Given the description of an element on the screen output the (x, y) to click on. 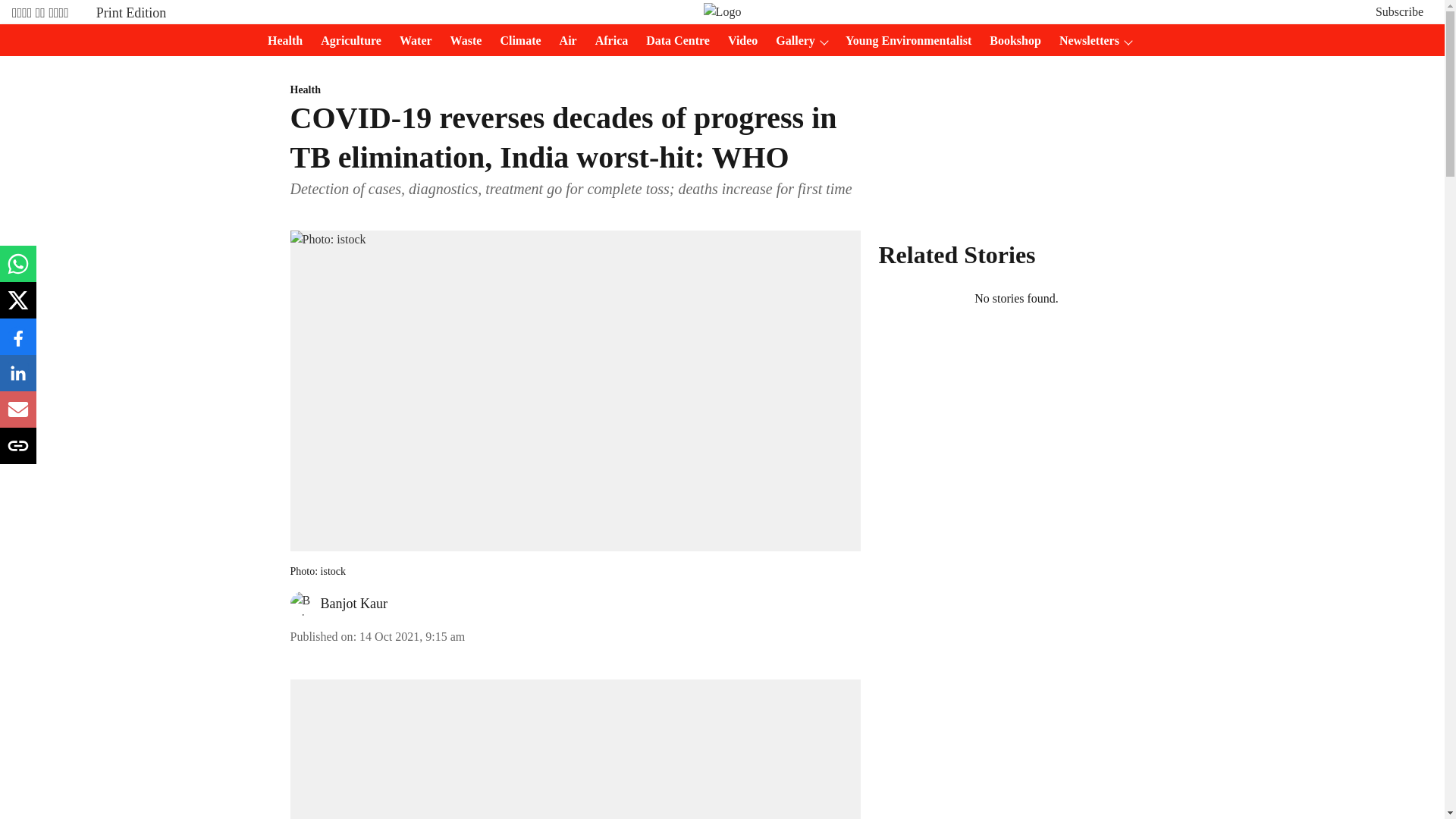
Health (574, 90)
Water (411, 40)
Banjot Kaur (353, 603)
Data Centre (673, 40)
Agriculture (346, 40)
Health (280, 40)
Waste (461, 40)
Video (738, 40)
Bookshop (1010, 40)
Print Edition (131, 12)
